Given the description of an element on the screen output the (x, y) to click on. 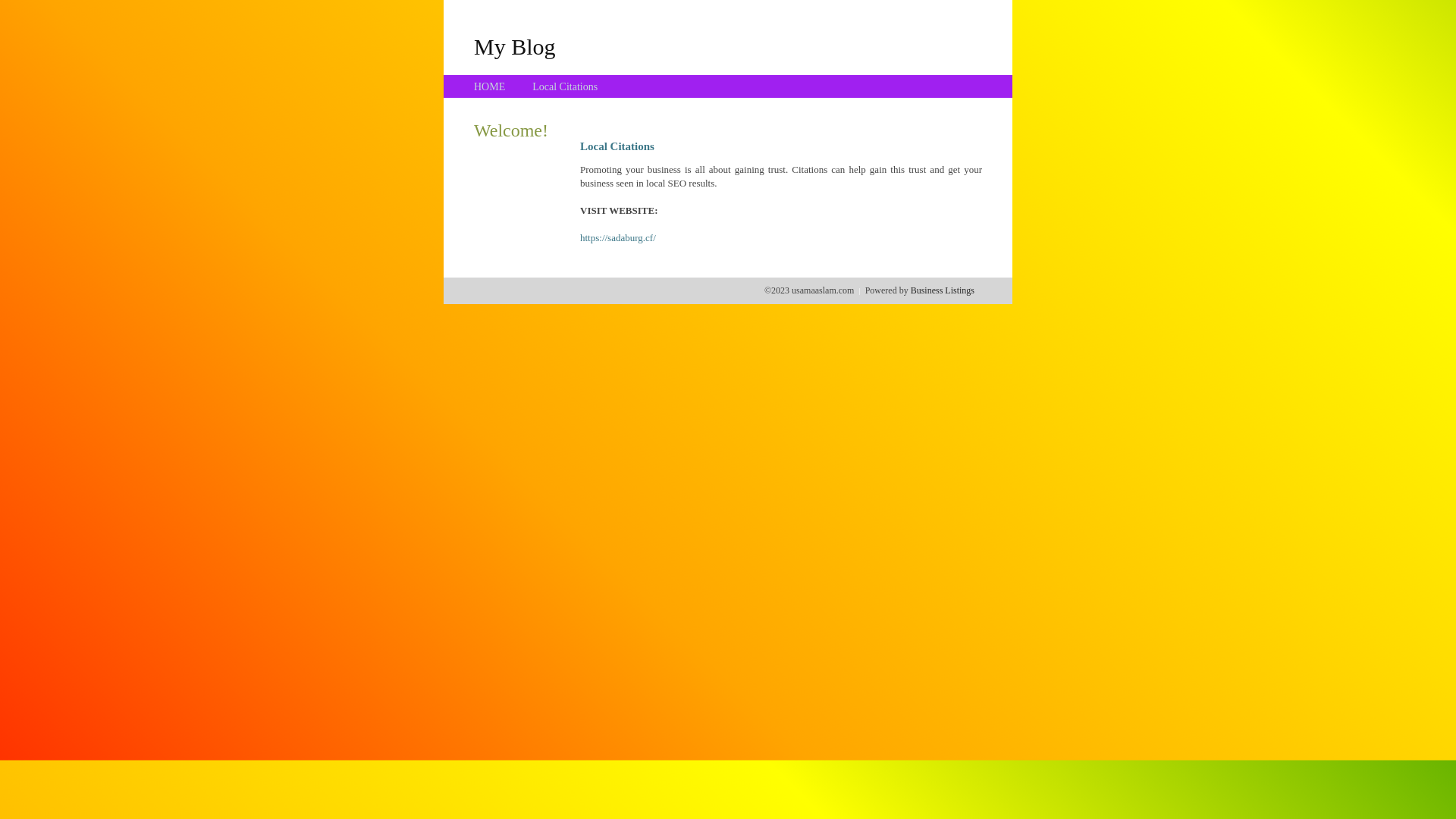
Business Listings Element type: text (942, 290)
HOME Element type: text (489, 86)
Local Citations Element type: text (564, 86)
My Blog Element type: text (514, 46)
https://sadaburg.cf/ Element type: text (617, 237)
